Given the description of an element on the screen output the (x, y) to click on. 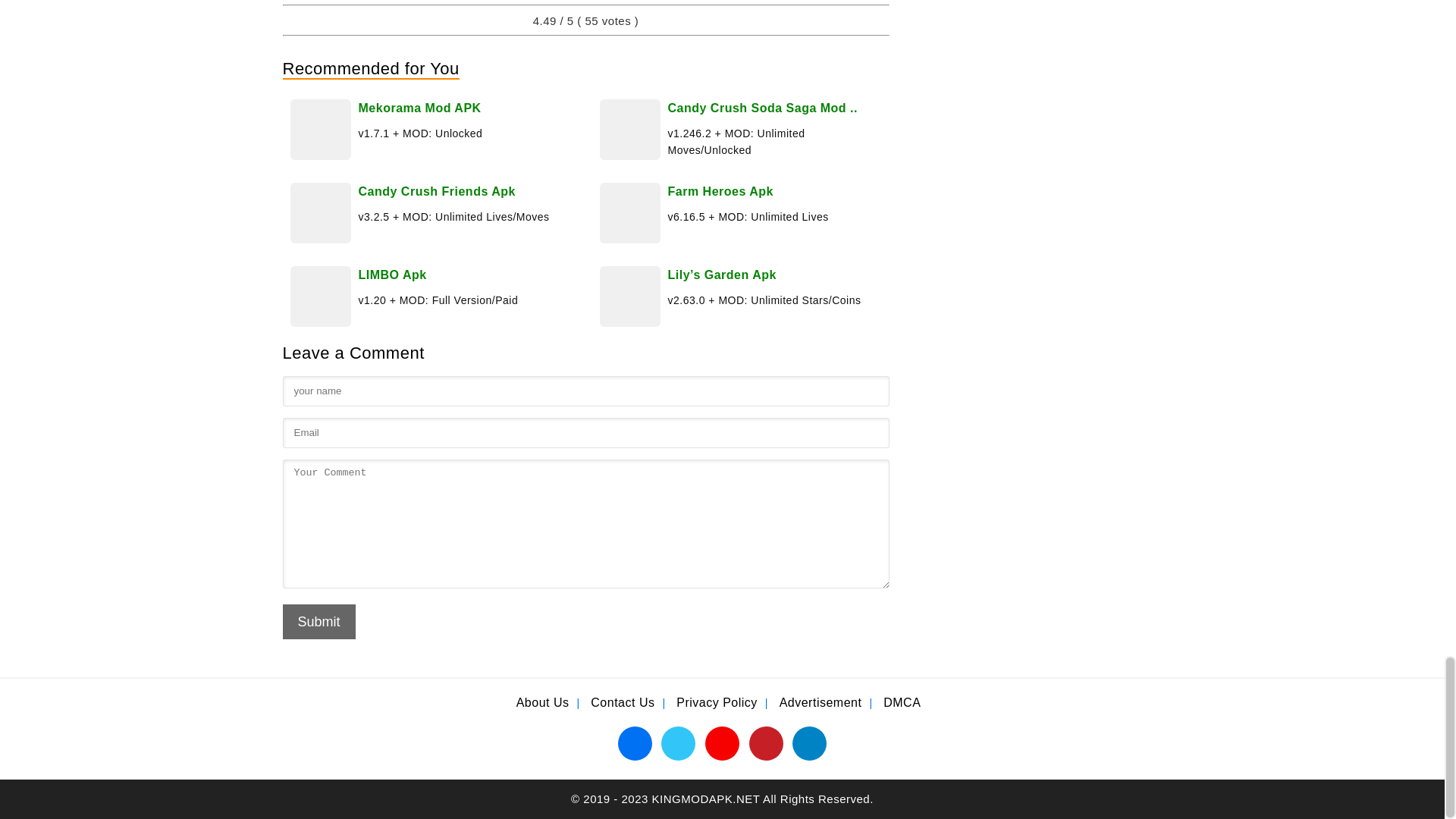
Official Telegram Page of KINGMODAPK.NET (809, 742)
Official Facebook Page of KINGMODAPK.NET (634, 742)
Official Youtube Channel of KINGMODAPK.NET (721, 742)
Official Twitter Account of KINGMODAPK.NET (678, 742)
Submit (318, 621)
Official Pinterest Page of KINGMODAPK.NET (766, 742)
